Given the description of an element on the screen output the (x, y) to click on. 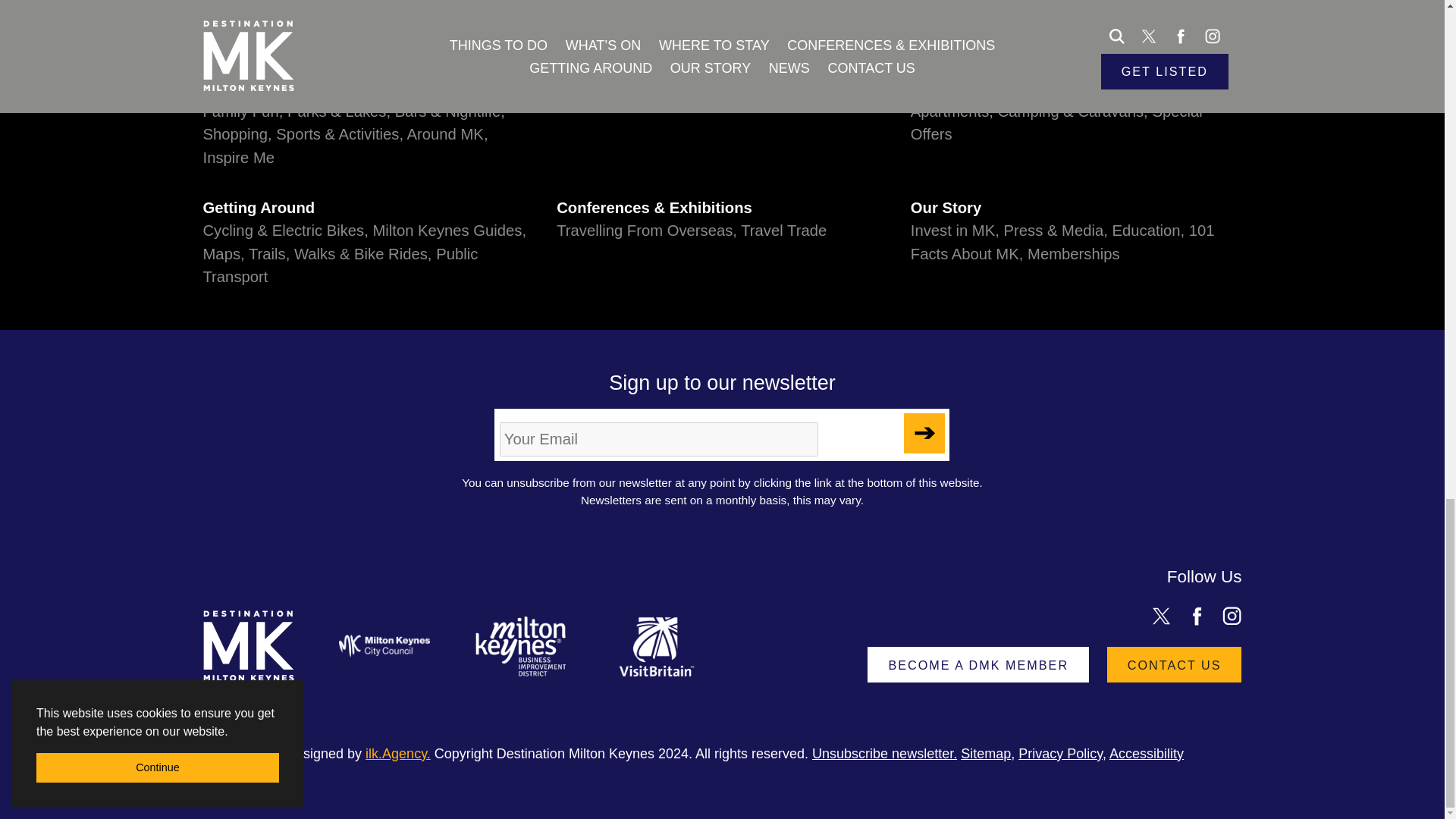
Milton Keynes Business Improvement District (521, 646)
Milton Keynes Council (384, 645)
Visit Britain (656, 646)
Eating Out (353, 88)
Destination Milton Keynes Logo (248, 646)
Things to Do (368, 65)
Submit (924, 433)
